Given the description of an element on the screen output the (x, y) to click on. 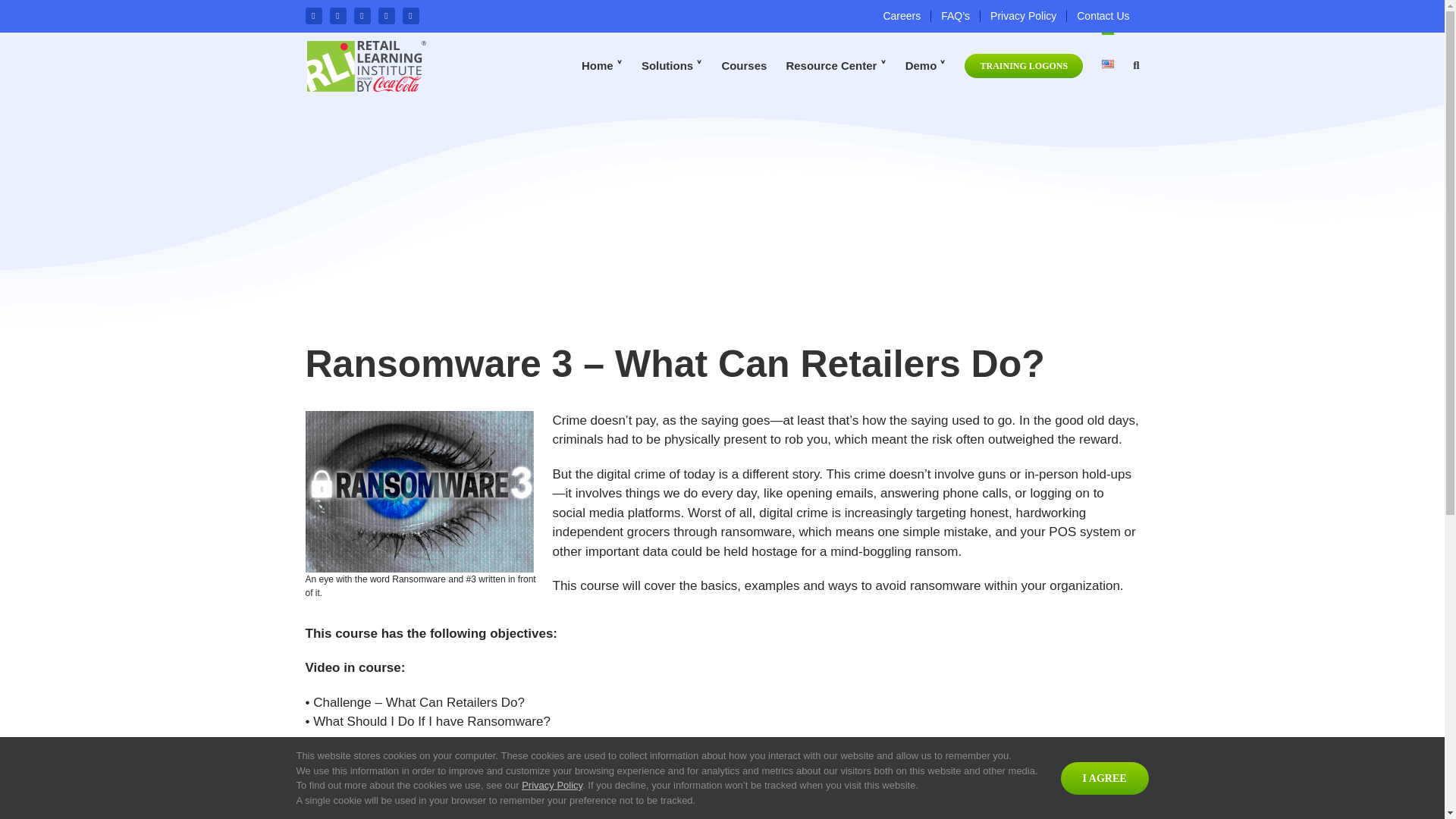
YouTube (410, 15)
Instagram (361, 15)
Twitter (337, 15)
Careers (901, 16)
Facebook (312, 15)
LinkedIn (385, 15)
Privacy Policy (1022, 16)
Search (1135, 64)
Contact Us (1102, 16)
